Given the description of an element on the screen output the (x, y) to click on. 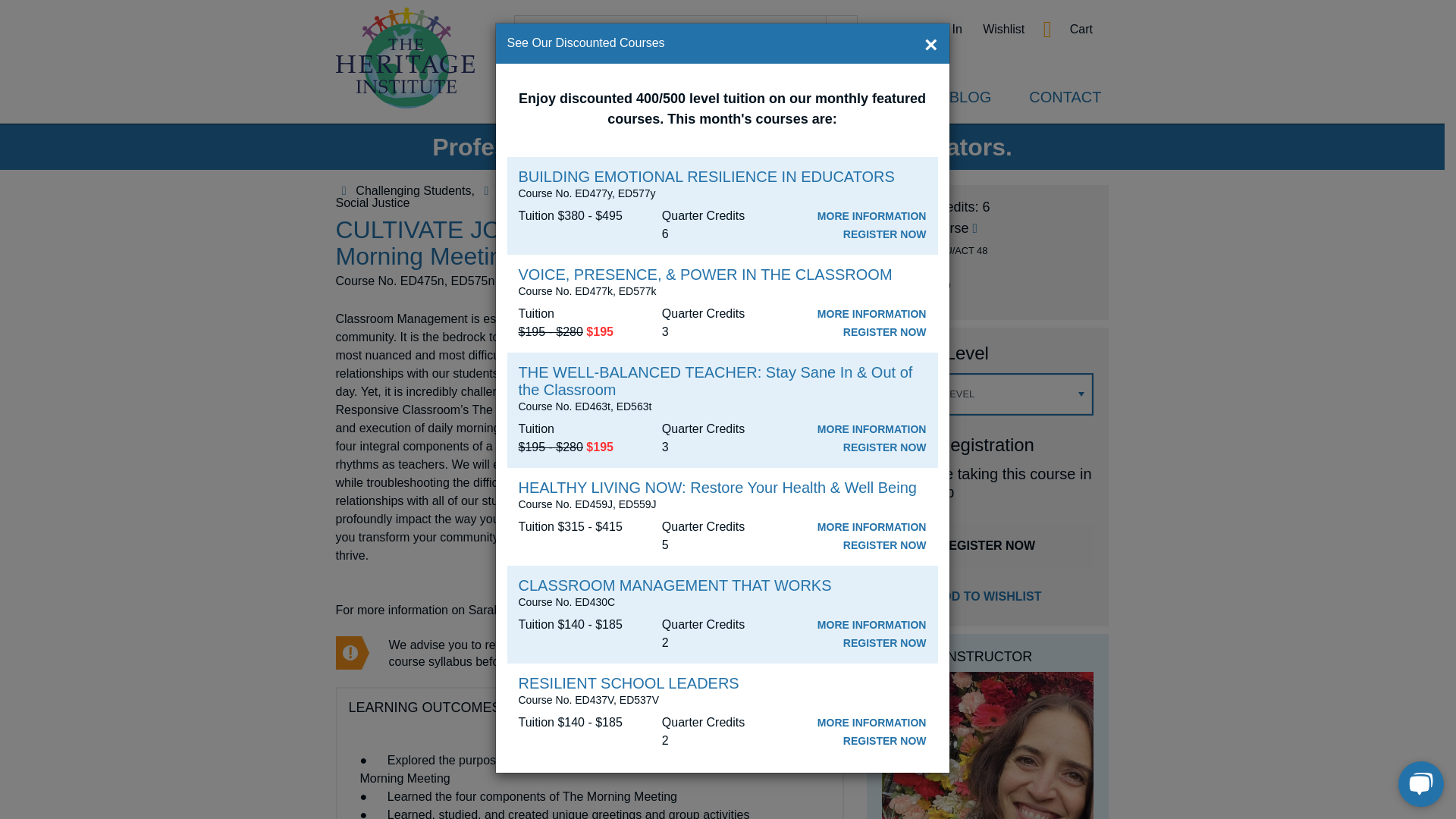
COURSES (549, 96)
Cart (1081, 29)
Materials (563, 711)
SYLLABUS (748, 652)
www.sarahrosman.com (776, 609)
INSTRUCTORS (678, 96)
Wishlist (1003, 29)
BLOG (970, 96)
Log In (944, 29)
Learning Outcomes (423, 707)
CONTACT (1064, 96)
